Given the description of an element on the screen output the (x, y) to click on. 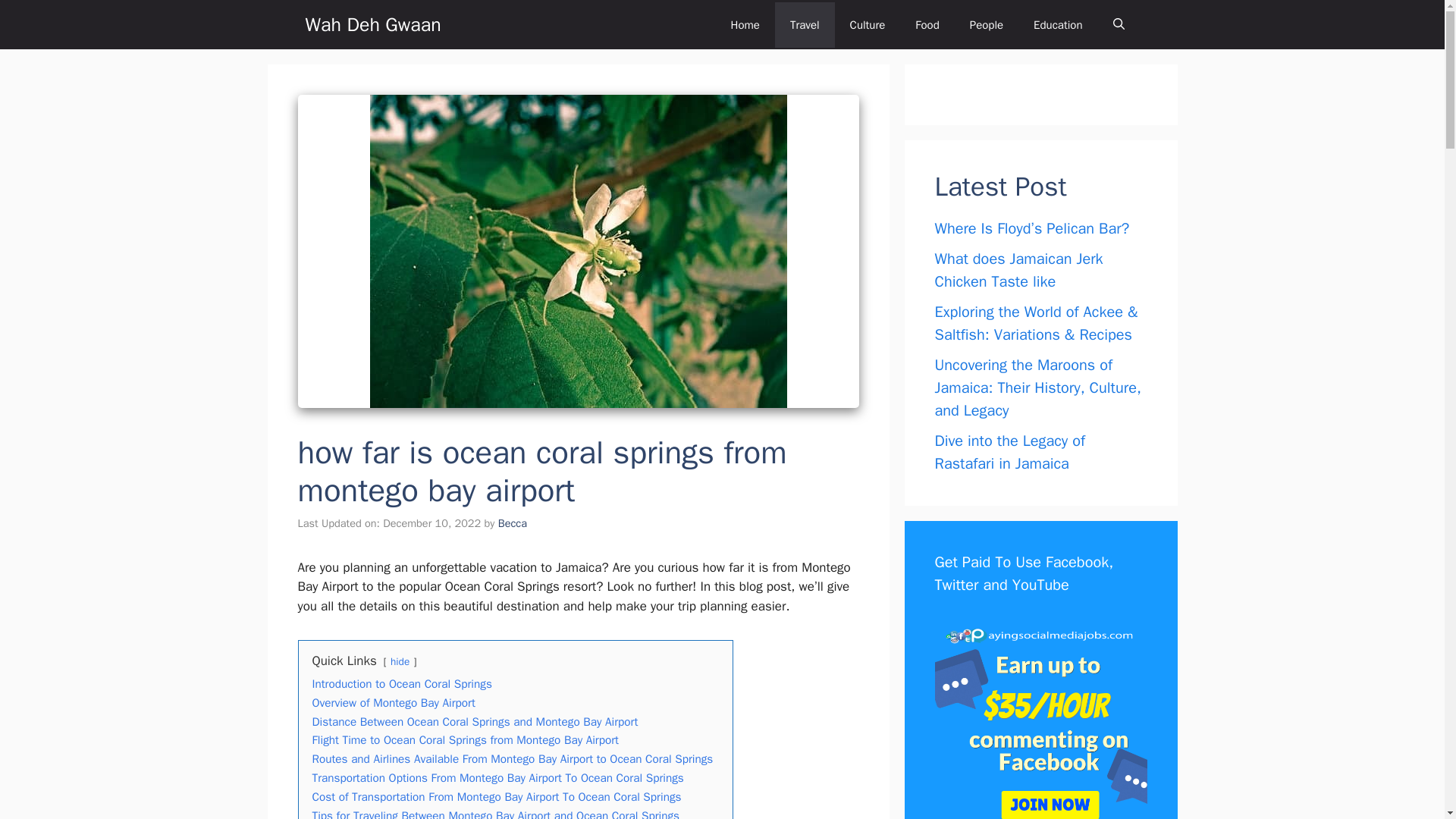
People (986, 23)
Food (926, 23)
Wah Deh Gwaan (372, 24)
hide (399, 661)
Becca (512, 522)
What does Jamaican Jerk Chicken Taste like (1018, 270)
